Given the description of an element on the screen output the (x, y) to click on. 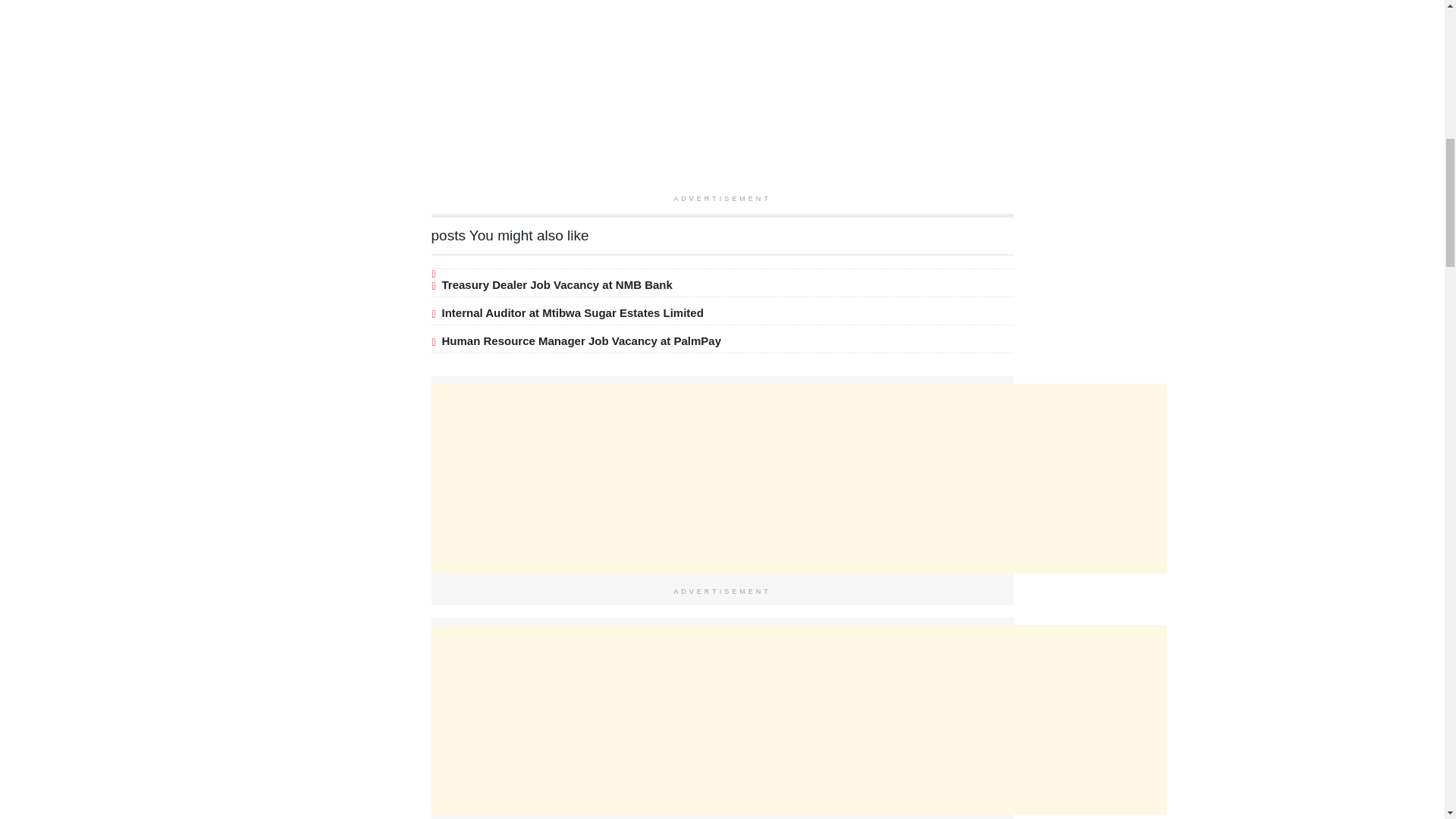
Treasury Dealer Job Vacancy at NMB Bank (556, 284)
Human Resource Manager Job Vacancy at PalmPay (580, 340)
Internal Auditor at Mtibwa Sugar Estates Limited (572, 312)
